Given the description of an element on the screen output the (x, y) to click on. 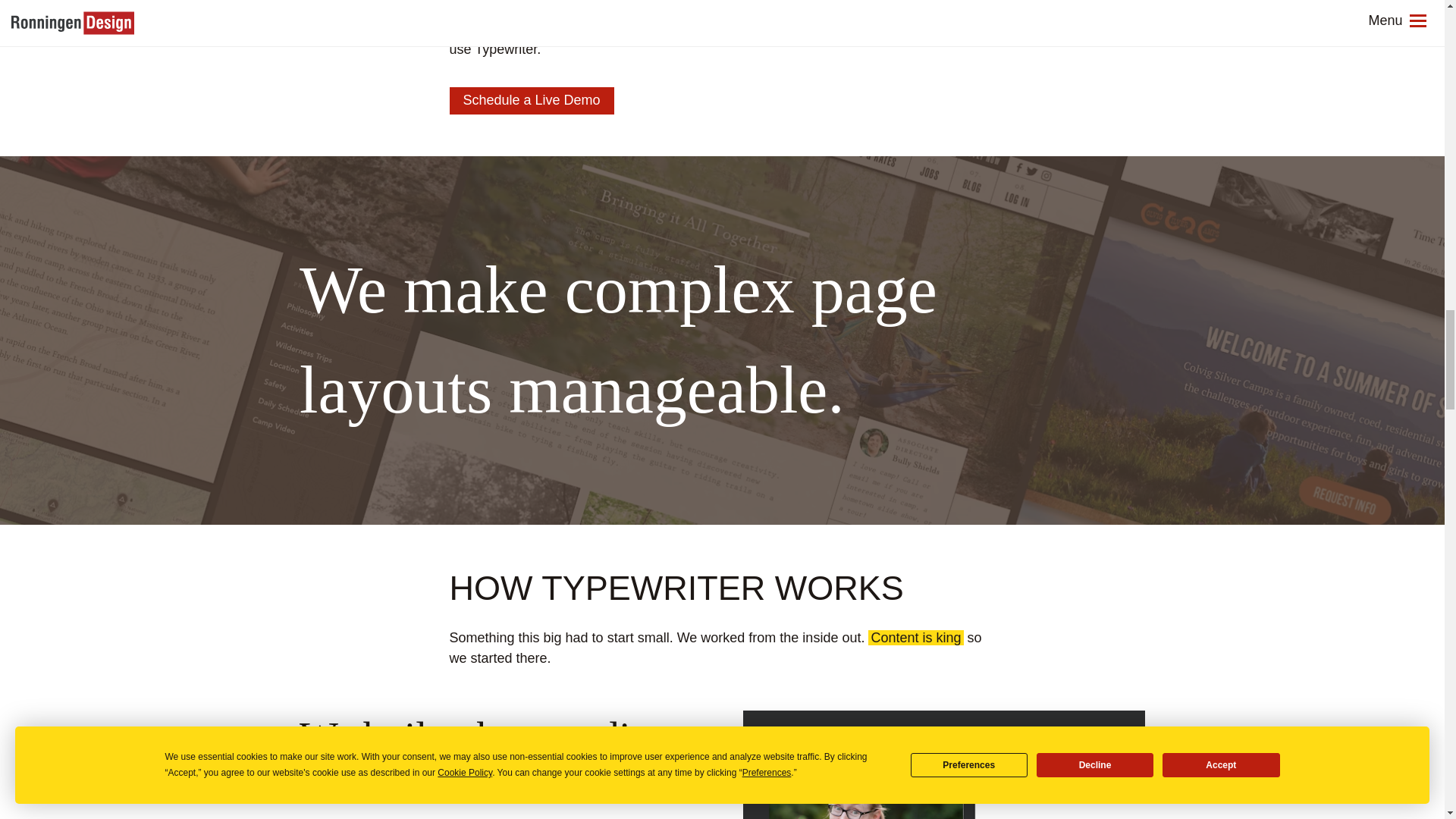
Camp DeSoto (491, 28)
Schedule a Live Demo (530, 100)
Alpine Camp (919, 7)
